Given the description of an element on the screen output the (x, y) to click on. 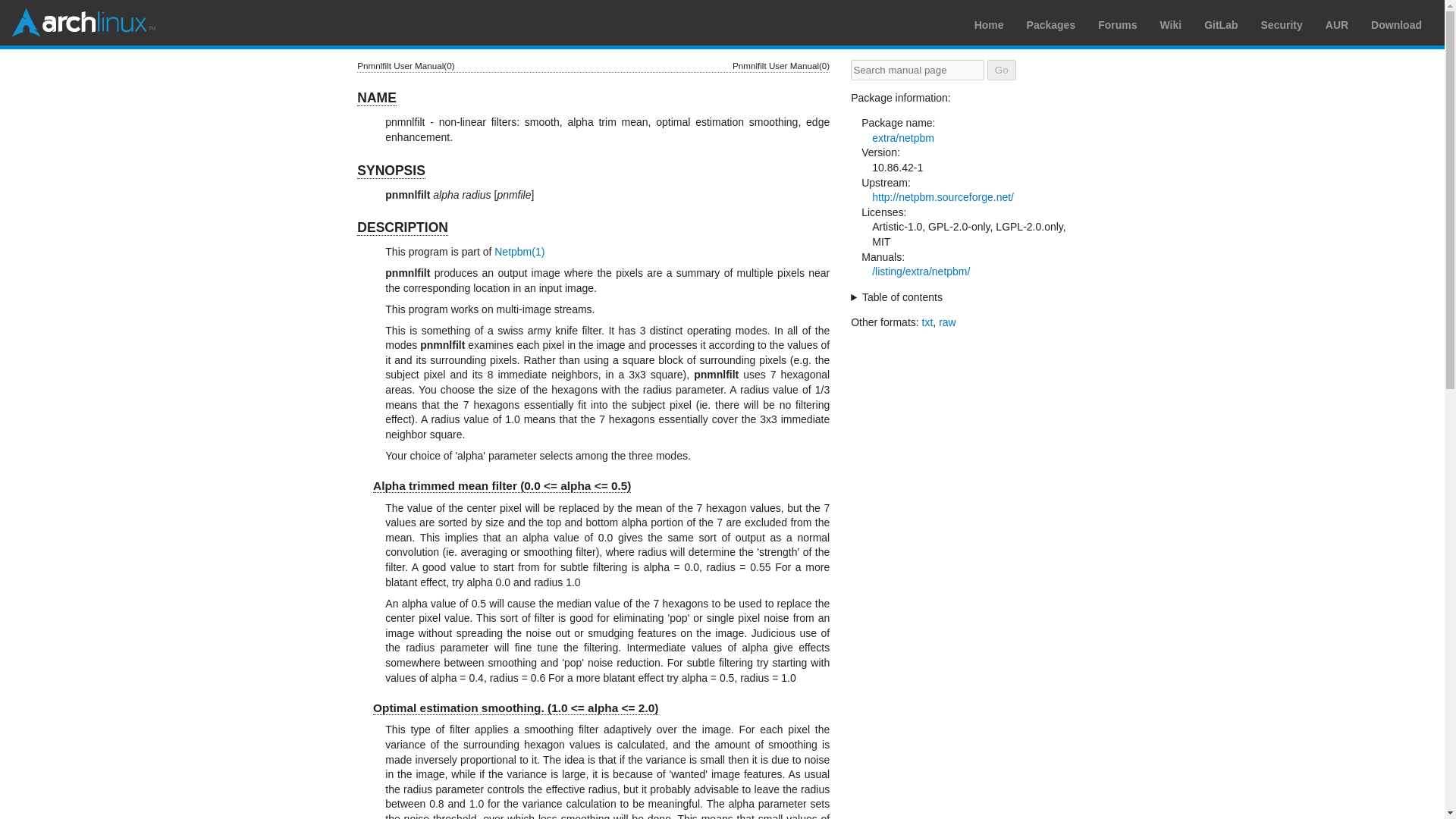
Arch news, packages, projects and more (989, 24)
Community forums (1117, 24)
Wiki (1171, 24)
Return to the main page (83, 22)
Home (989, 24)
Arch Linux User Repository (1336, 24)
GitLab (1220, 24)
Arch Package Database (1050, 24)
Arch Linux (83, 22)
DESCRIPTION (402, 227)
Arch Linux Security Tracker (1281, 24)
AUR (1336, 24)
Go (1001, 69)
Get Arch Linux (1396, 24)
Go (1001, 69)
